Given the description of an element on the screen output the (x, y) to click on. 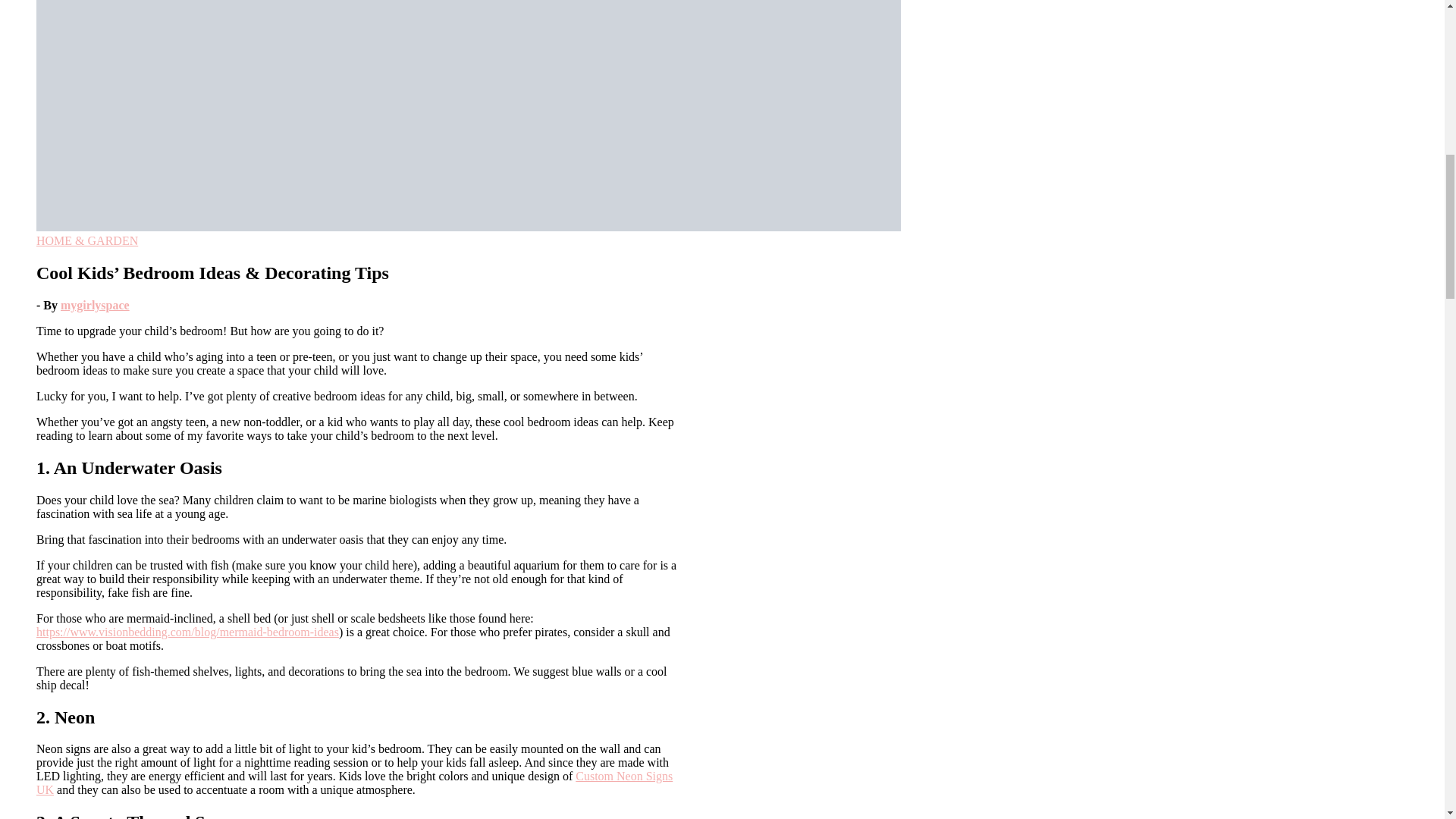
mygirlyspace (95, 305)
Posts by mygirlyspace (95, 305)
Custom Neon Signs UK (354, 782)
